Given the description of an element on the screen output the (x, y) to click on. 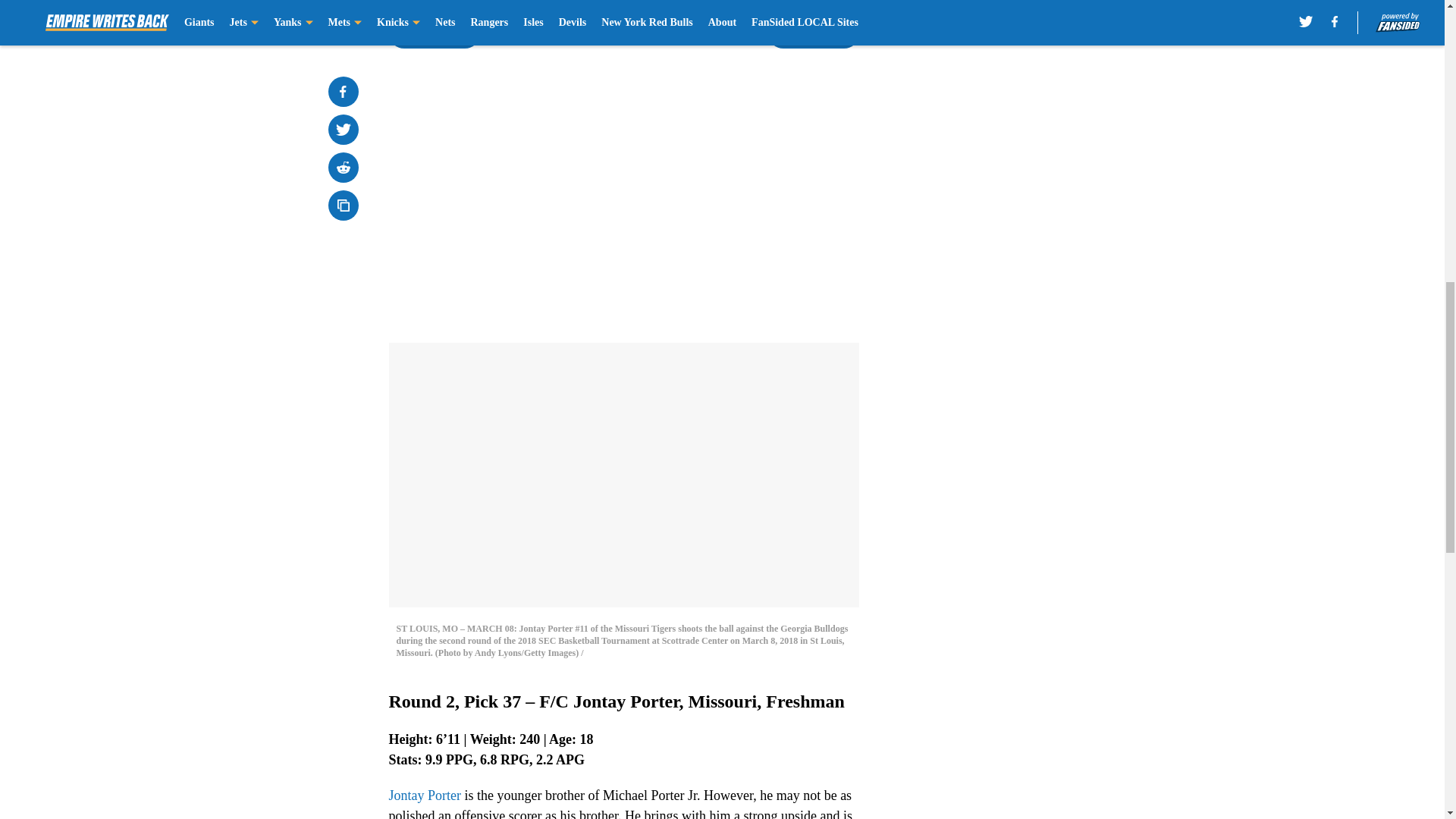
Prev (433, 33)
Next (813, 33)
Jontay Porter (424, 795)
